Given the description of an element on the screen output the (x, y) to click on. 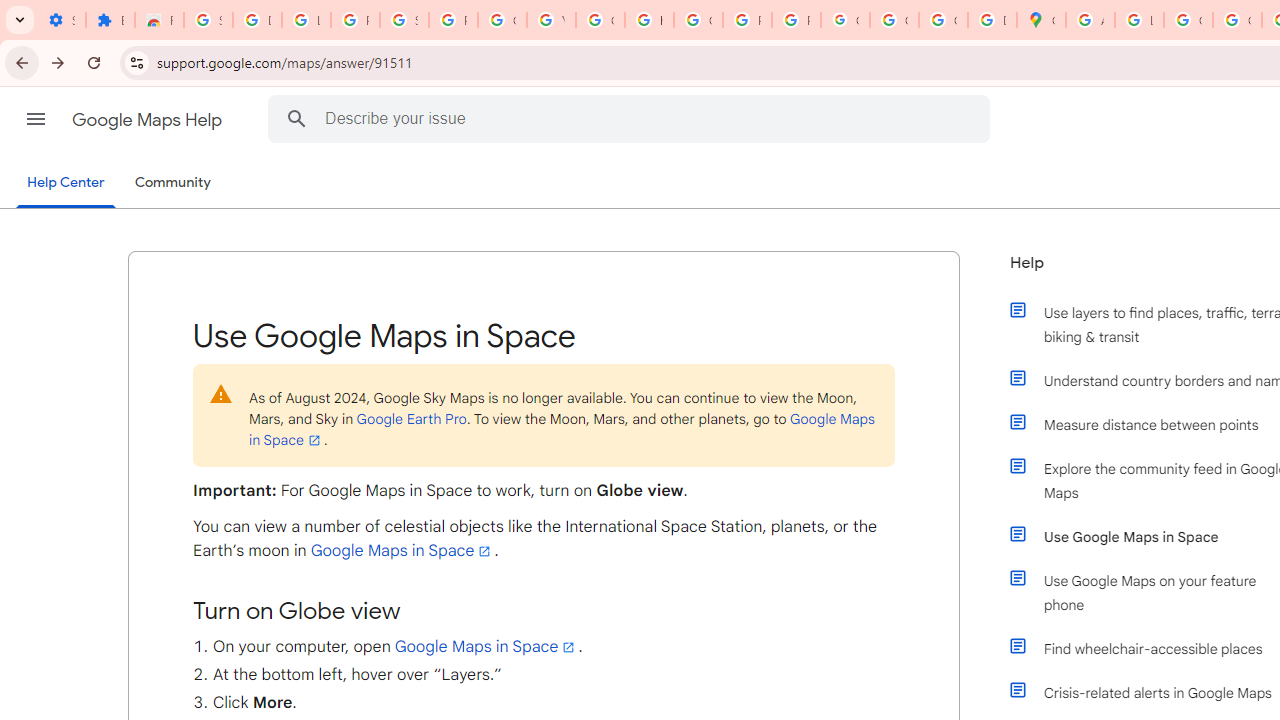
Community (171, 183)
Main menu (35, 119)
Settings - On startup (61, 20)
